Given the description of an element on the screen output the (x, y) to click on. 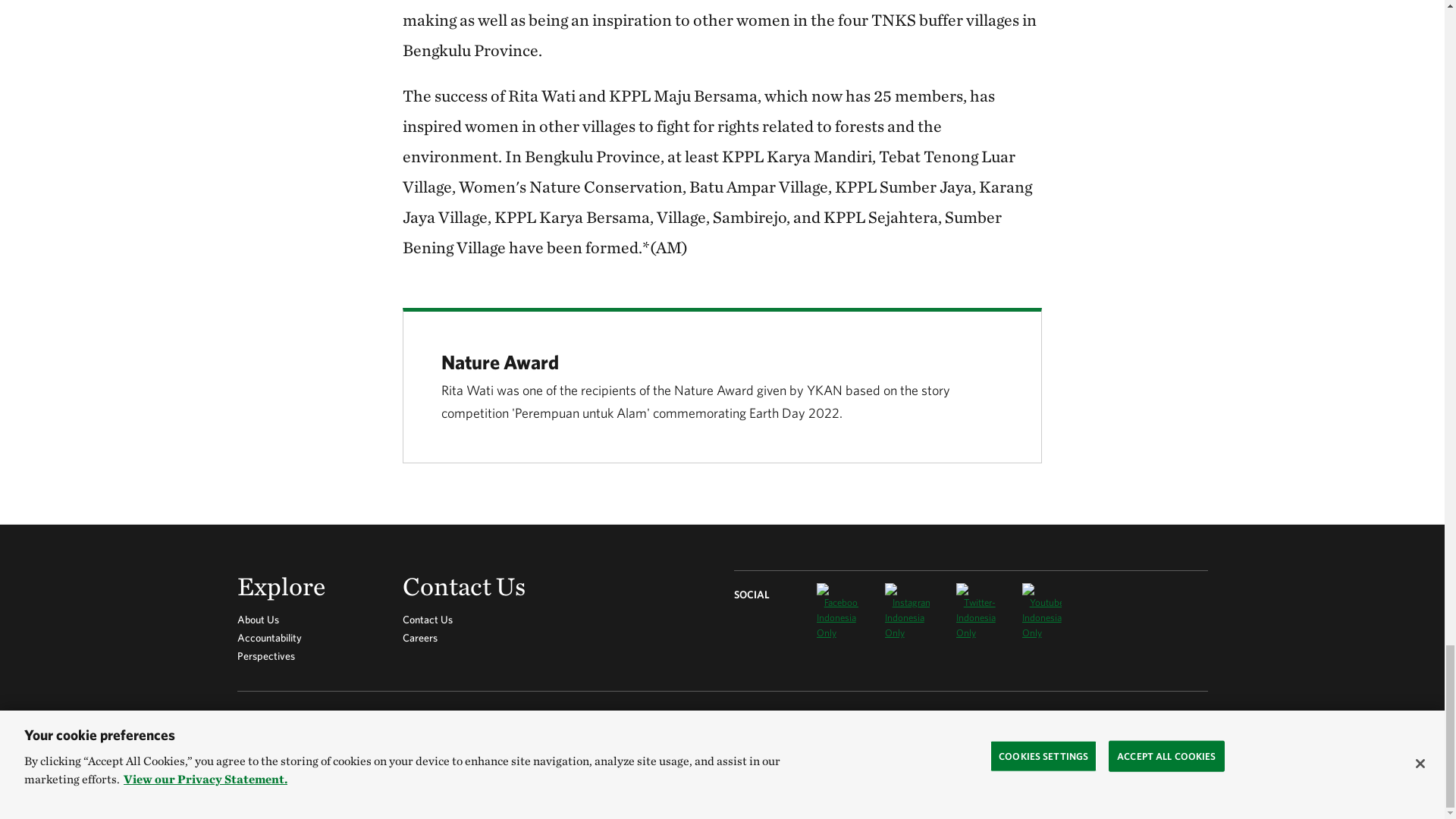
Explore (306, 589)
Contact Us (427, 619)
About Us (256, 619)
Perspectives (264, 655)
Contact Us (473, 589)
Accountability (268, 637)
